Given the description of an element on the screen output the (x, y) to click on. 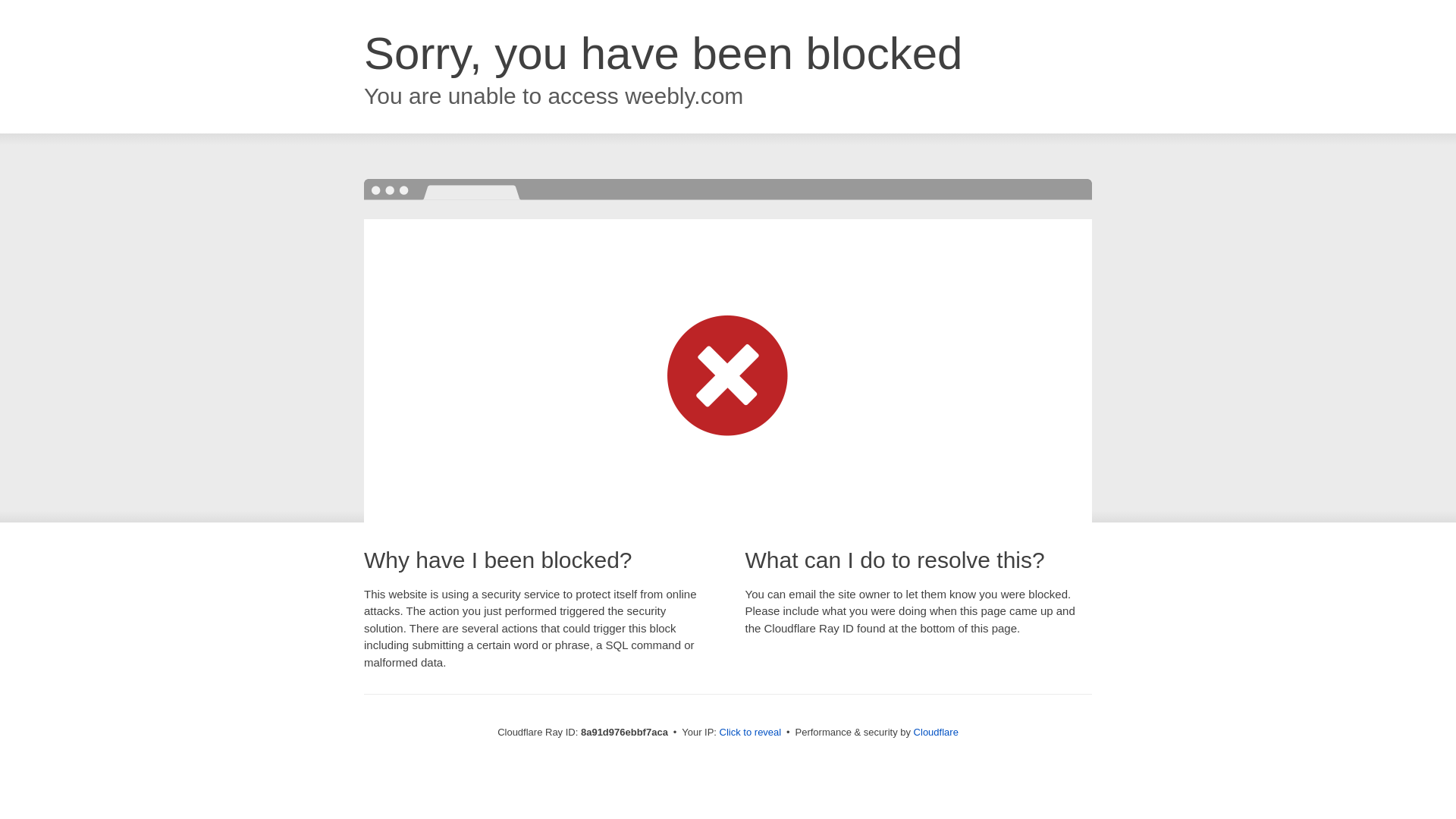
Click to reveal (750, 732)
Cloudflare (936, 731)
